Given the description of an element on the screen output the (x, y) to click on. 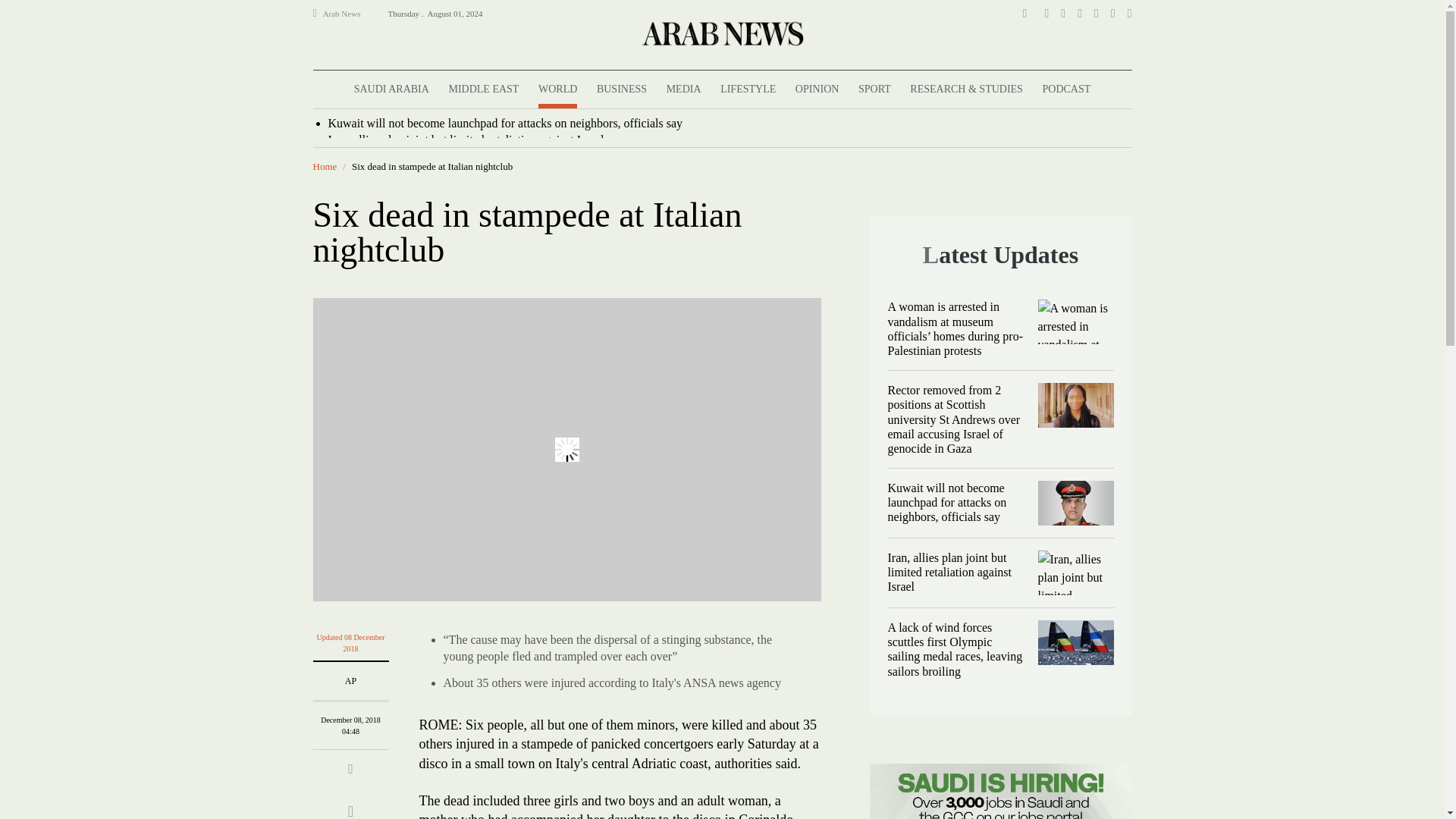
Arab News (348, 13)
Arabnews (721, 33)
